Given the description of an element on the screen output the (x, y) to click on. 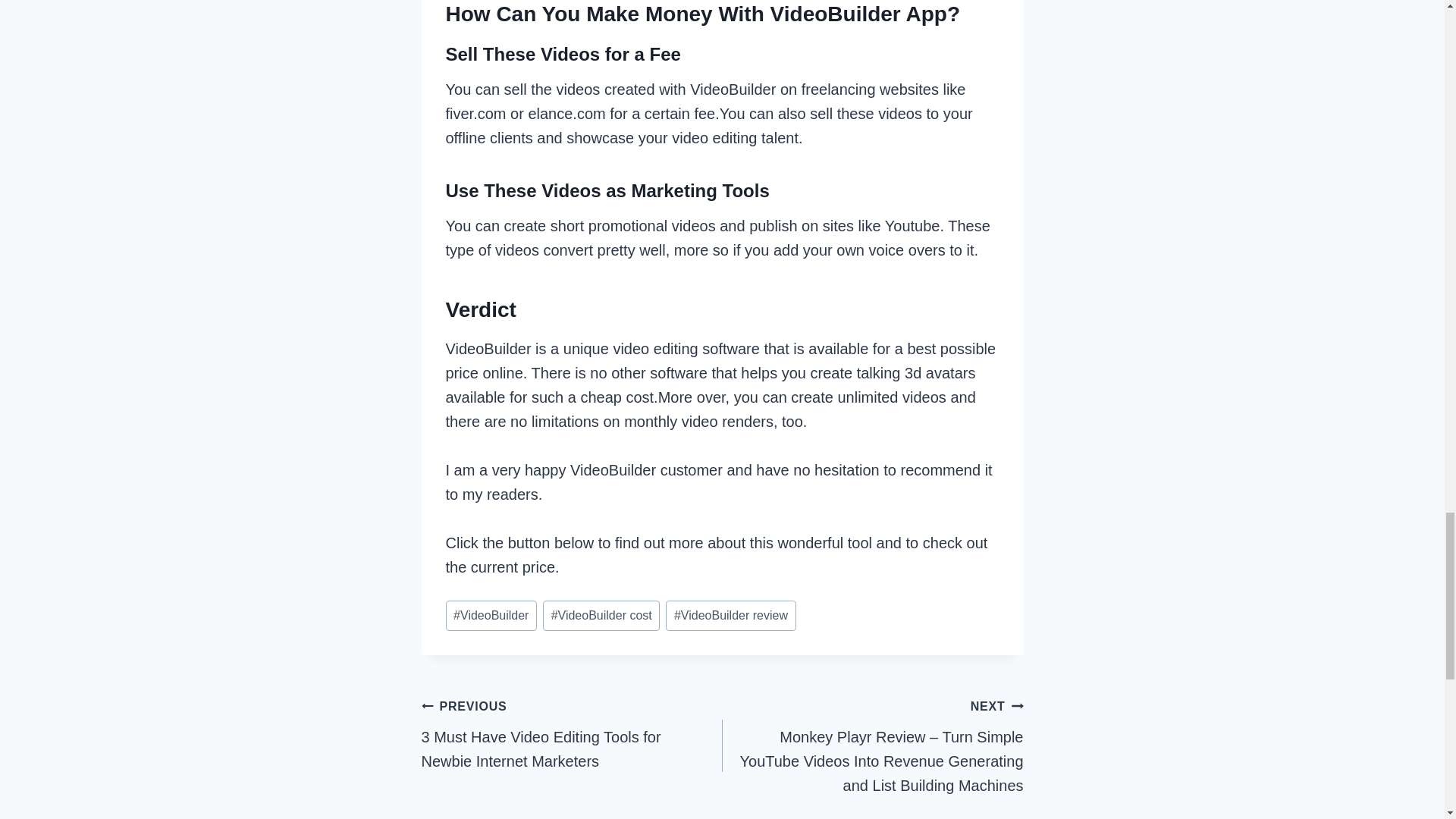
VideoBuilder review (729, 615)
VideoBuilder cost (601, 615)
VideoBuilder (491, 615)
